Given the description of an element on the screen output the (x, y) to click on. 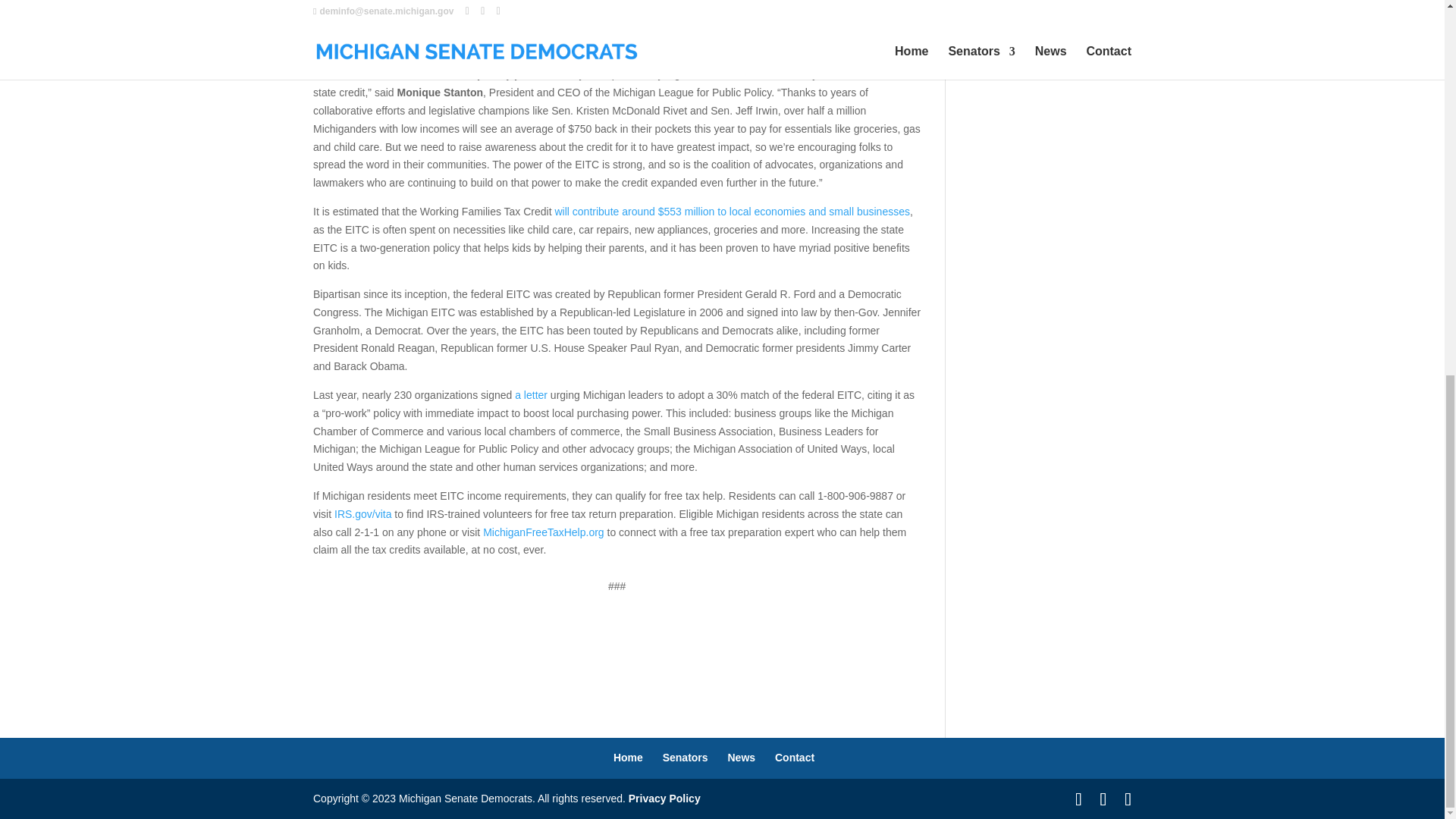
Home (627, 757)
News (741, 757)
Contact (793, 757)
MichiganFreeTaxHelp.org (543, 532)
a letter (531, 395)
Senators (684, 757)
